Given the description of an element on the screen output the (x, y) to click on. 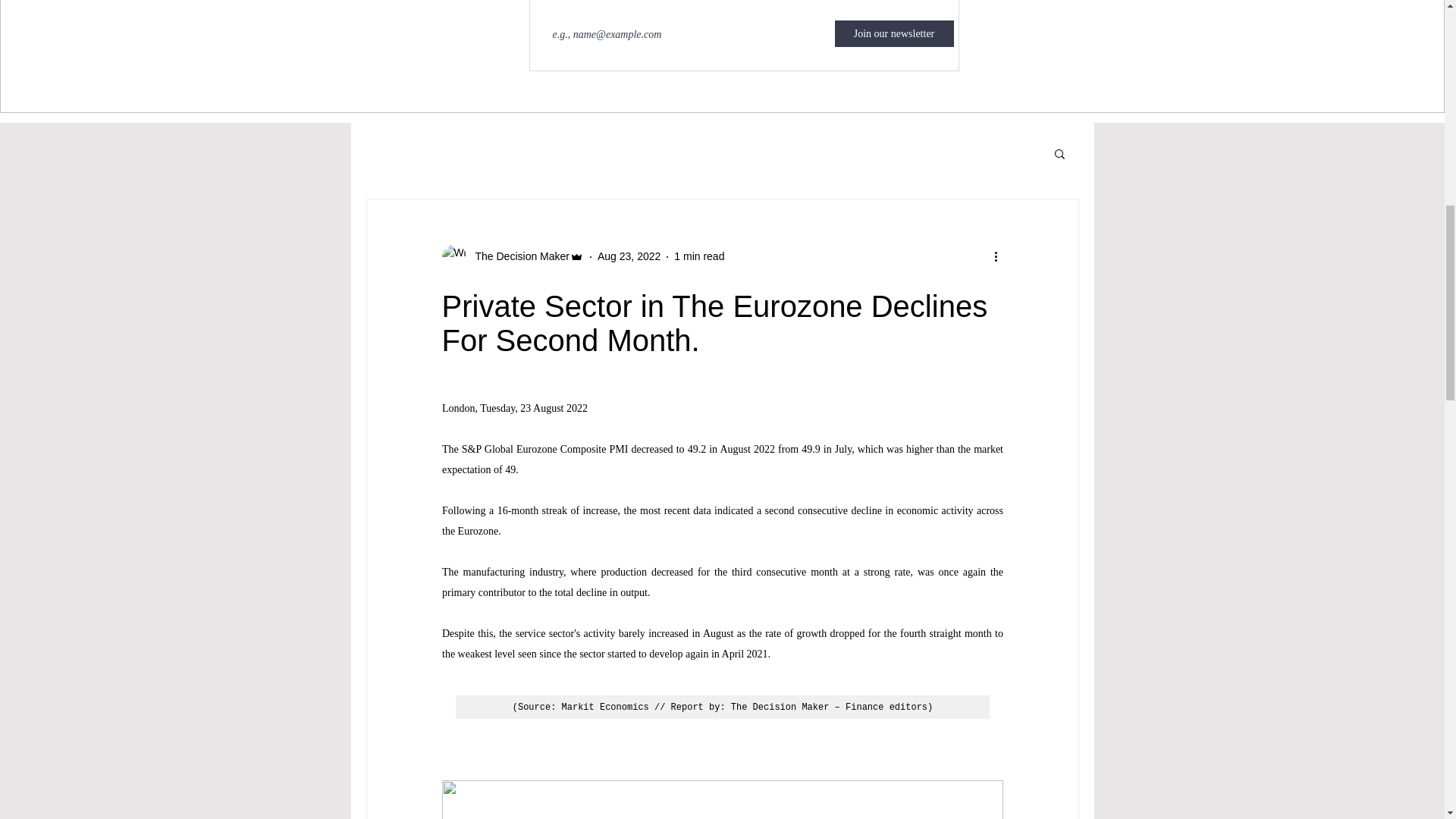
The Decision Maker (512, 256)
Aug 23, 2022 (628, 256)
The Decision Maker (517, 256)
Join our newsletter (893, 33)
1 min read (698, 256)
